Given the description of an element on the screen output the (x, y) to click on. 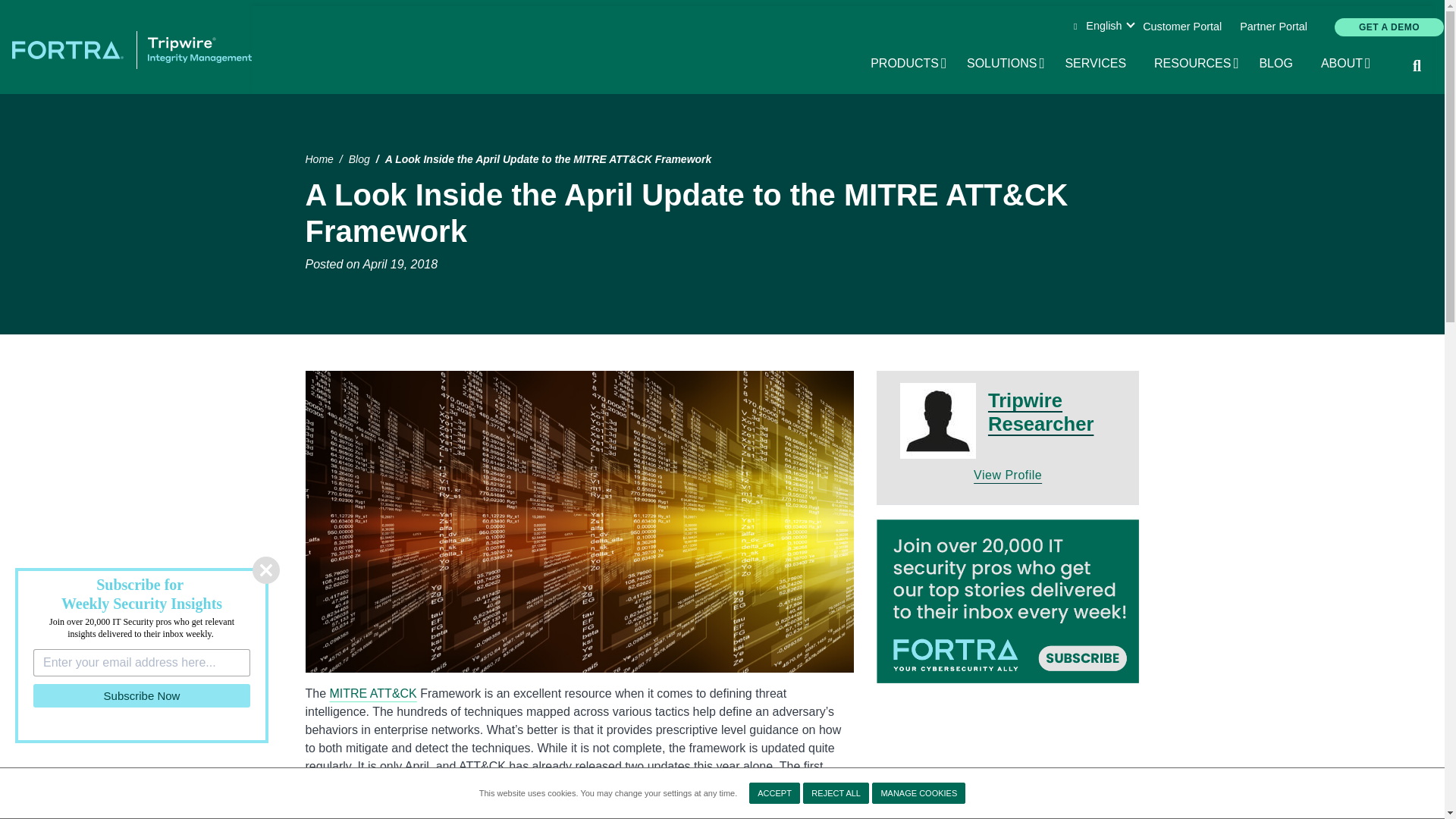
GET A DEMO (909, 63)
Close (1197, 63)
ACCEPT (1389, 27)
BLOG (265, 569)
SERVICES (1006, 63)
Subscribe Now (774, 793)
Skip to main content (1280, 63)
REJECT ALL (1099, 63)
Home (141, 695)
Partner Portal (1346, 63)
MANAGE COOKIES (721, 1)
